Given the description of an element on the screen output the (x, y) to click on. 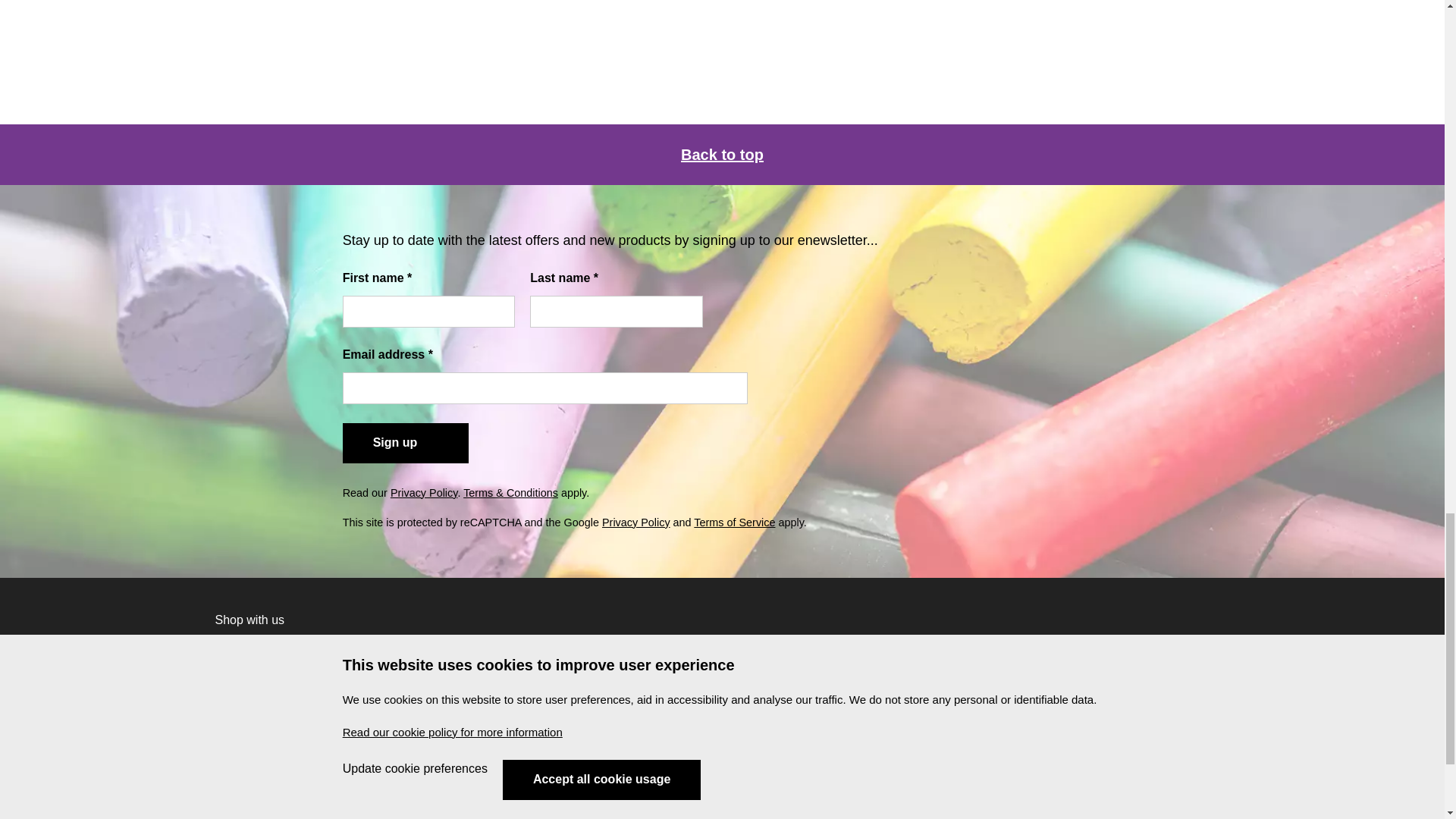
Privacy Policy (424, 492)
